Given the description of an element on the screen output the (x, y) to click on. 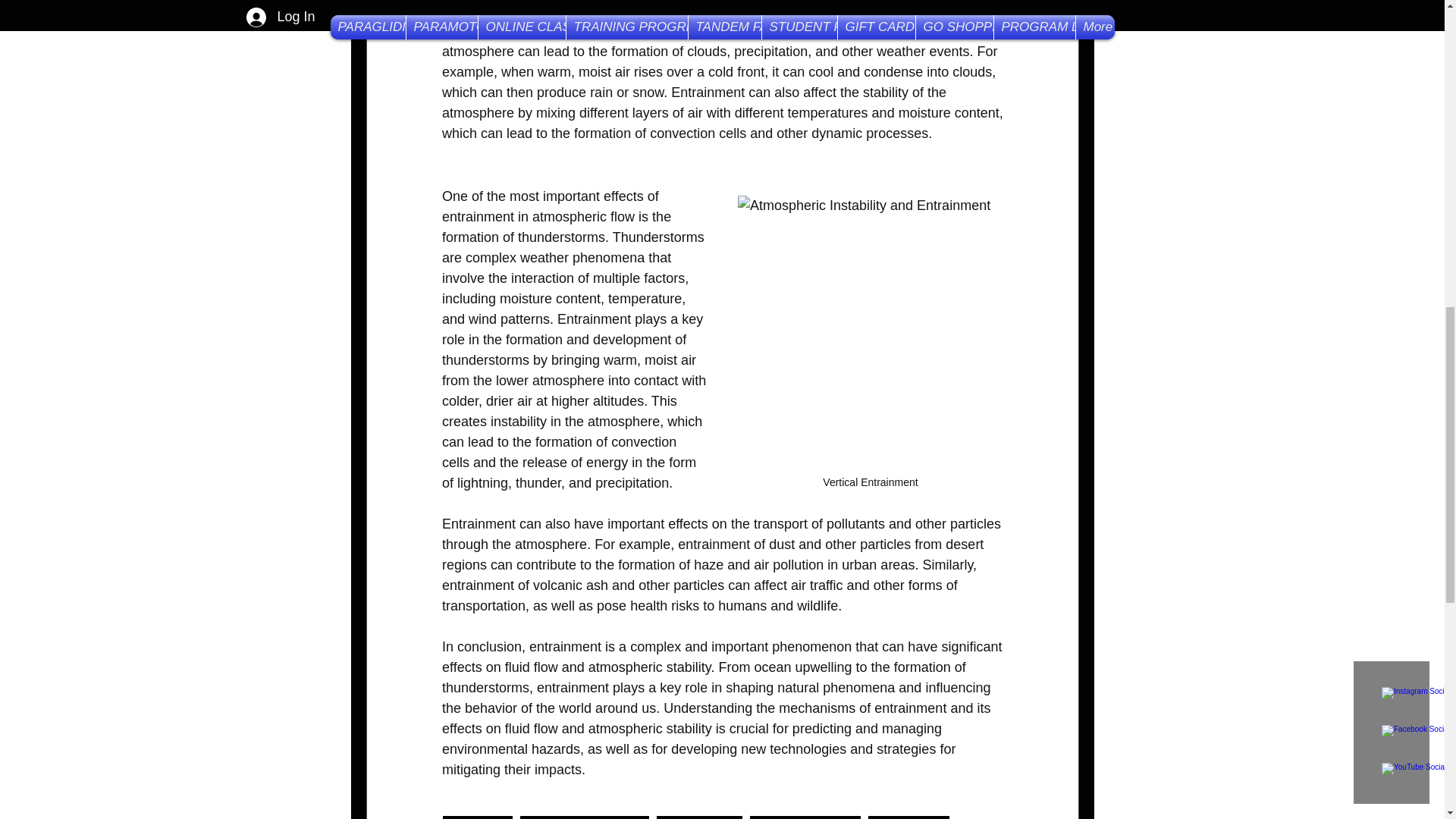
thunderstorm (908, 816)
paragliding in California (584, 816)
forecasting weather (805, 816)
paragliding (477, 816)
fluid dynamics (699, 816)
